Given the description of an element on the screen output the (x, y) to click on. 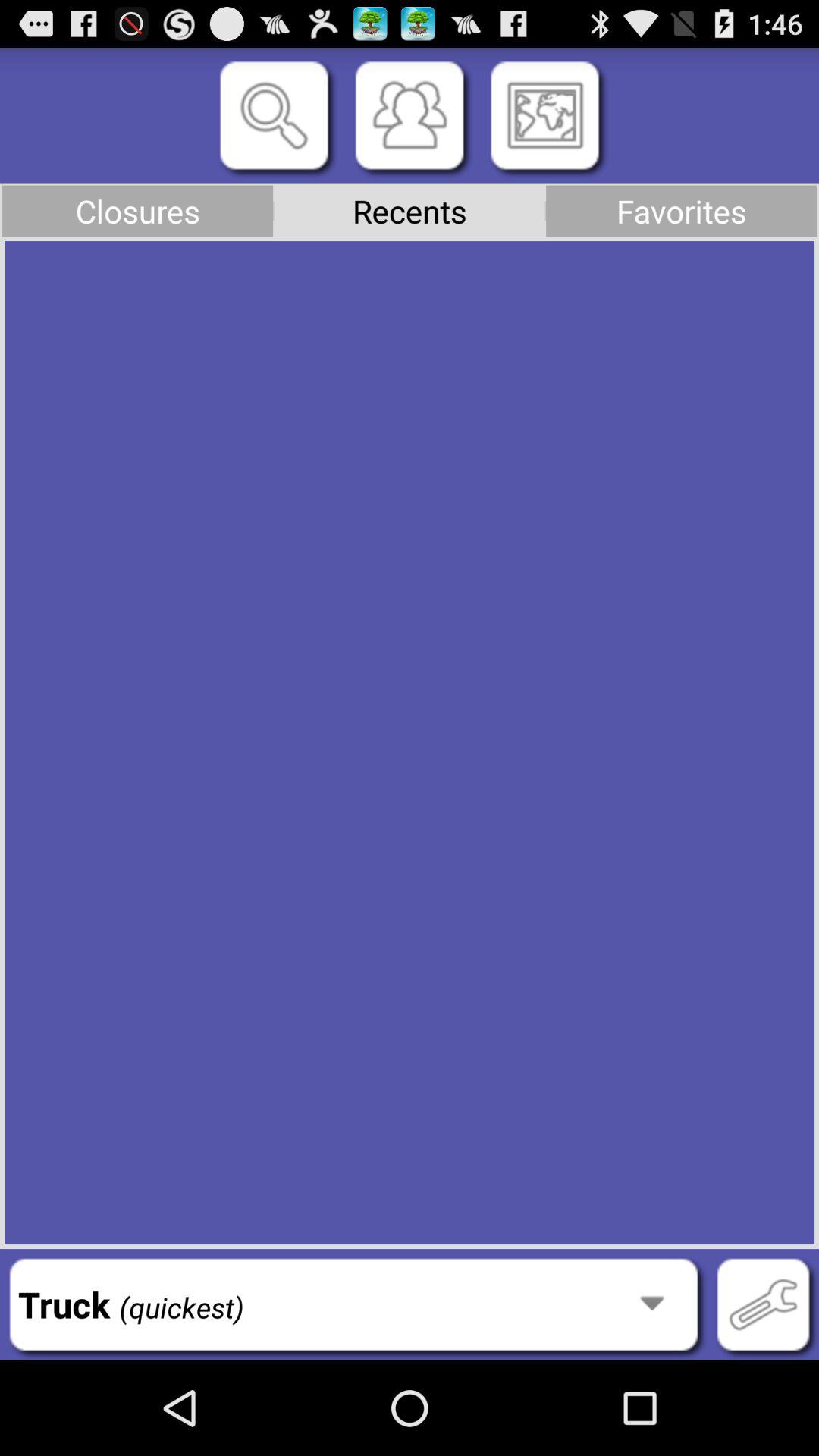
tap truck (quickest) item (353, 1304)
